Given the description of an element on the screen output the (x, y) to click on. 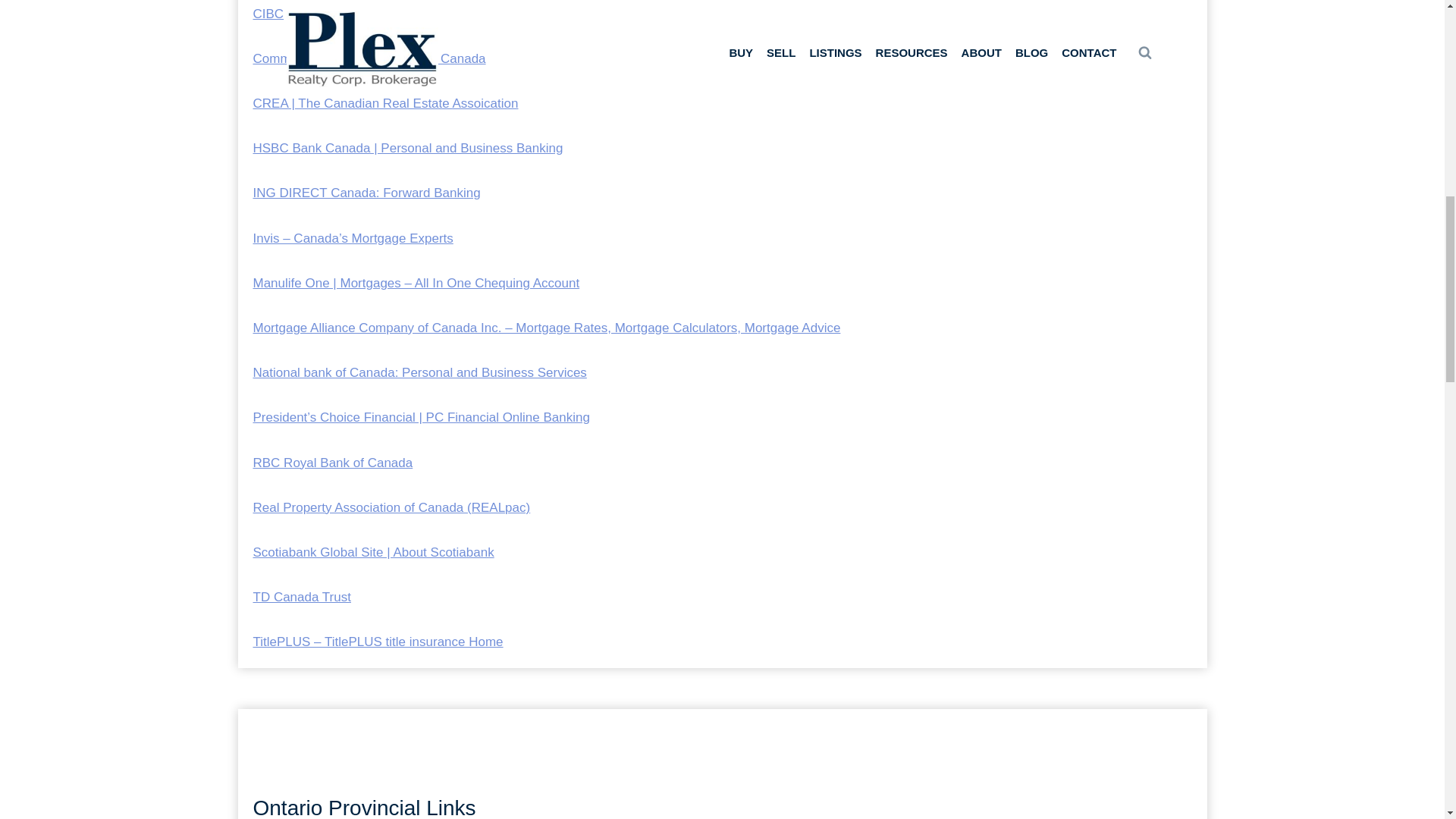
Commercial Finance GE Capital Canada (369, 58)
ING DIRECT Canada: Forward Banking (366, 192)
CIBC (268, 13)
RBC Royal Bank of Canada (333, 462)
TD Canada Trust (301, 596)
National bank of Canada: Personal and Business Services (419, 372)
